Given the description of an element on the screen output the (x, y) to click on. 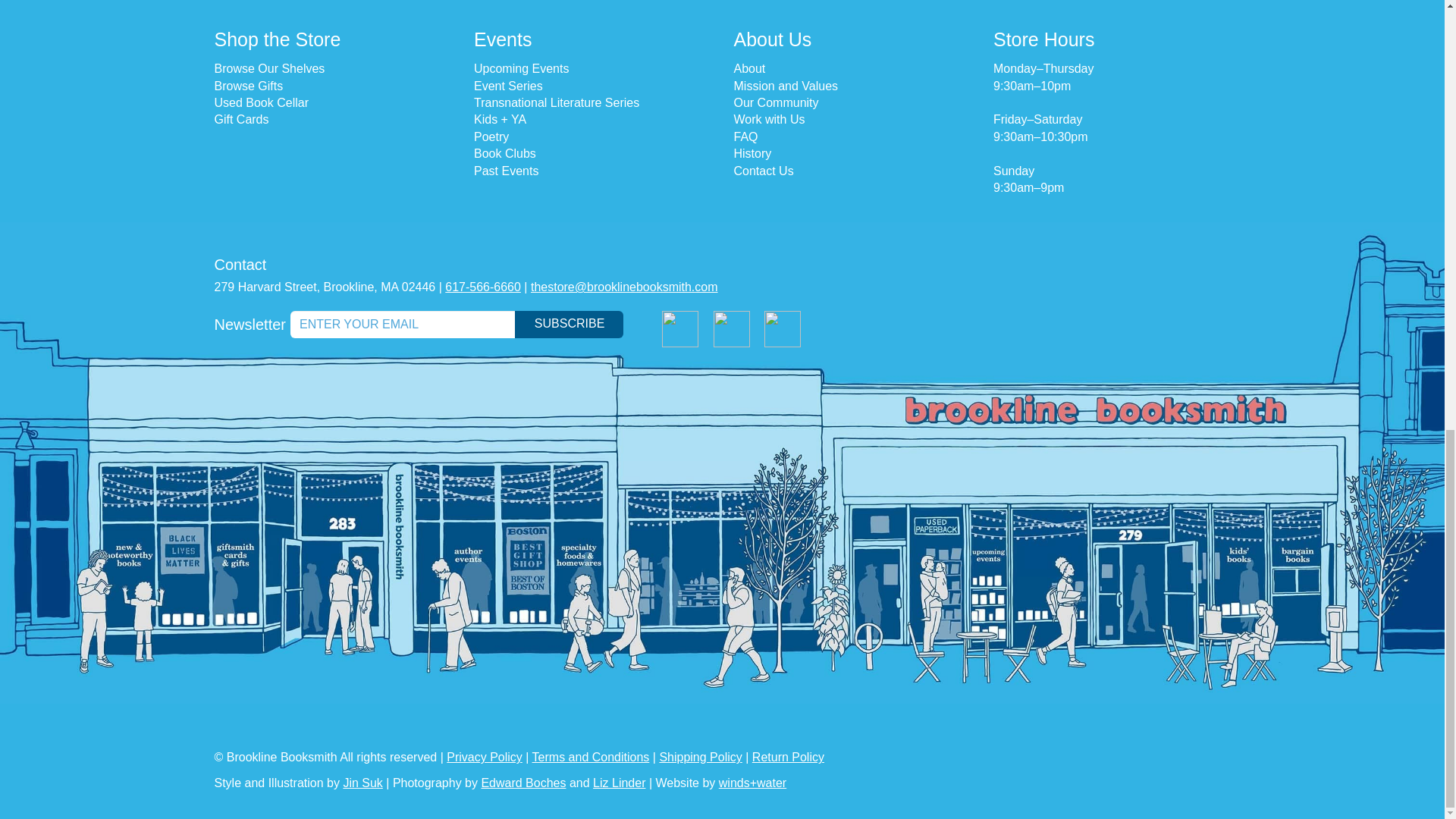
Subscribe (569, 324)
